Given the description of an element on the screen output the (x, y) to click on. 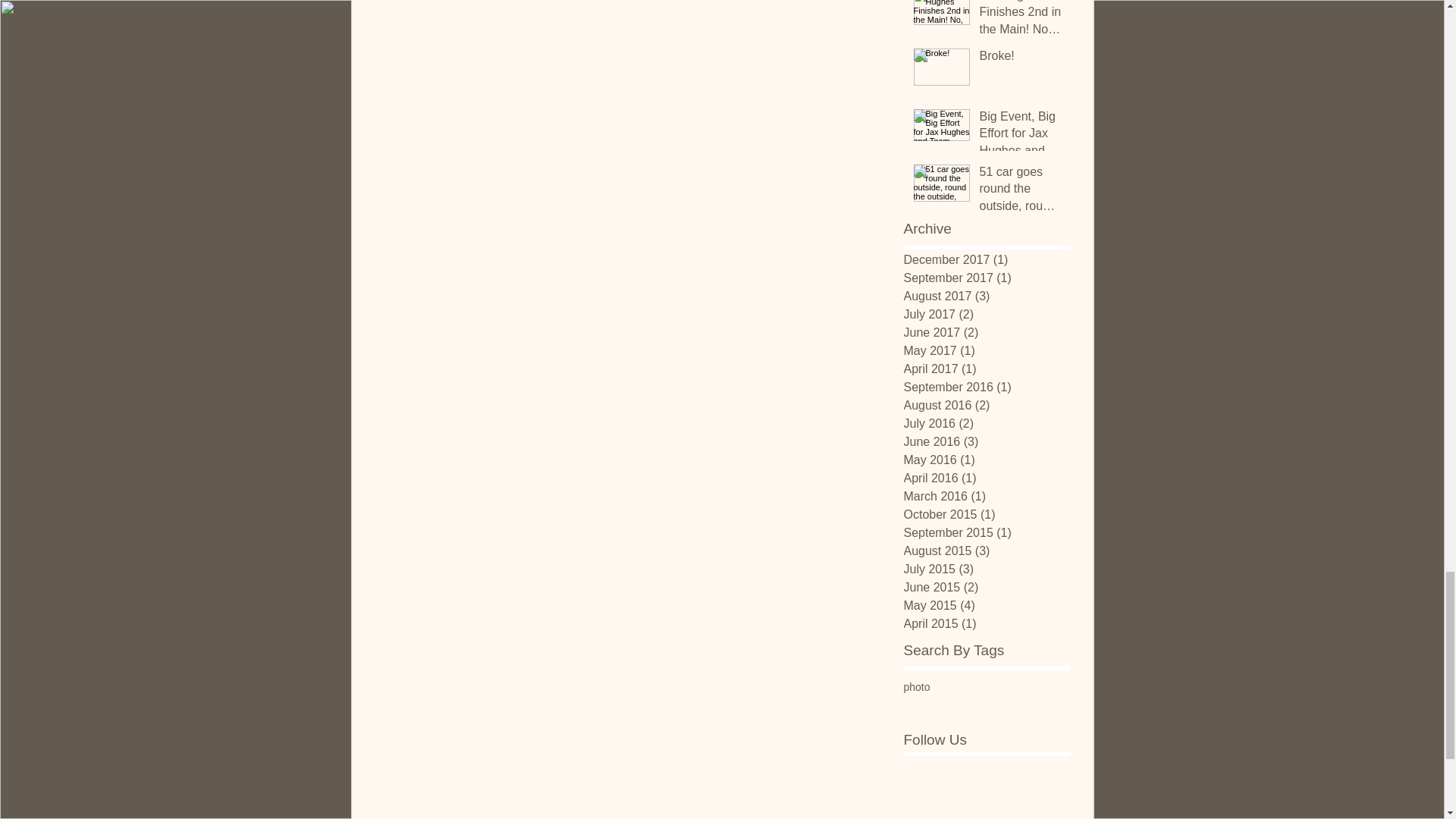
Big Event, Big Effort for Jax Hughes and Team (1020, 136)
Broke! (1020, 58)
